Given the description of an element on the screen output the (x, y) to click on. 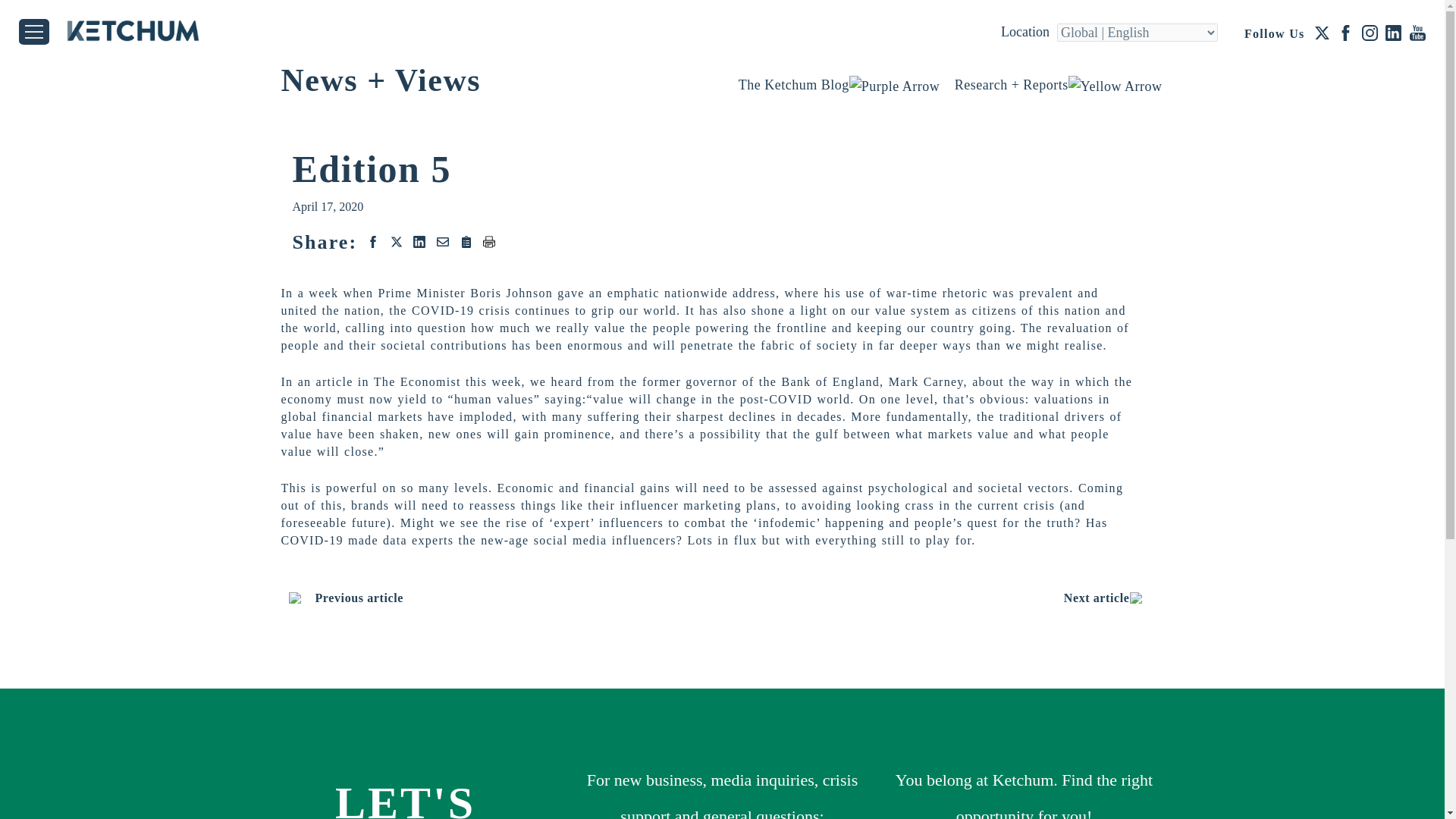
print (486, 240)
Next article (1110, 597)
April 17, 2020 (328, 205)
The Ketchum Blog (838, 84)
email (442, 240)
Copied! (465, 240)
facebook (375, 240)
linkedin (418, 240)
Previous article (345, 597)
twitter (396, 240)
